Given the description of an element on the screen output the (x, y) to click on. 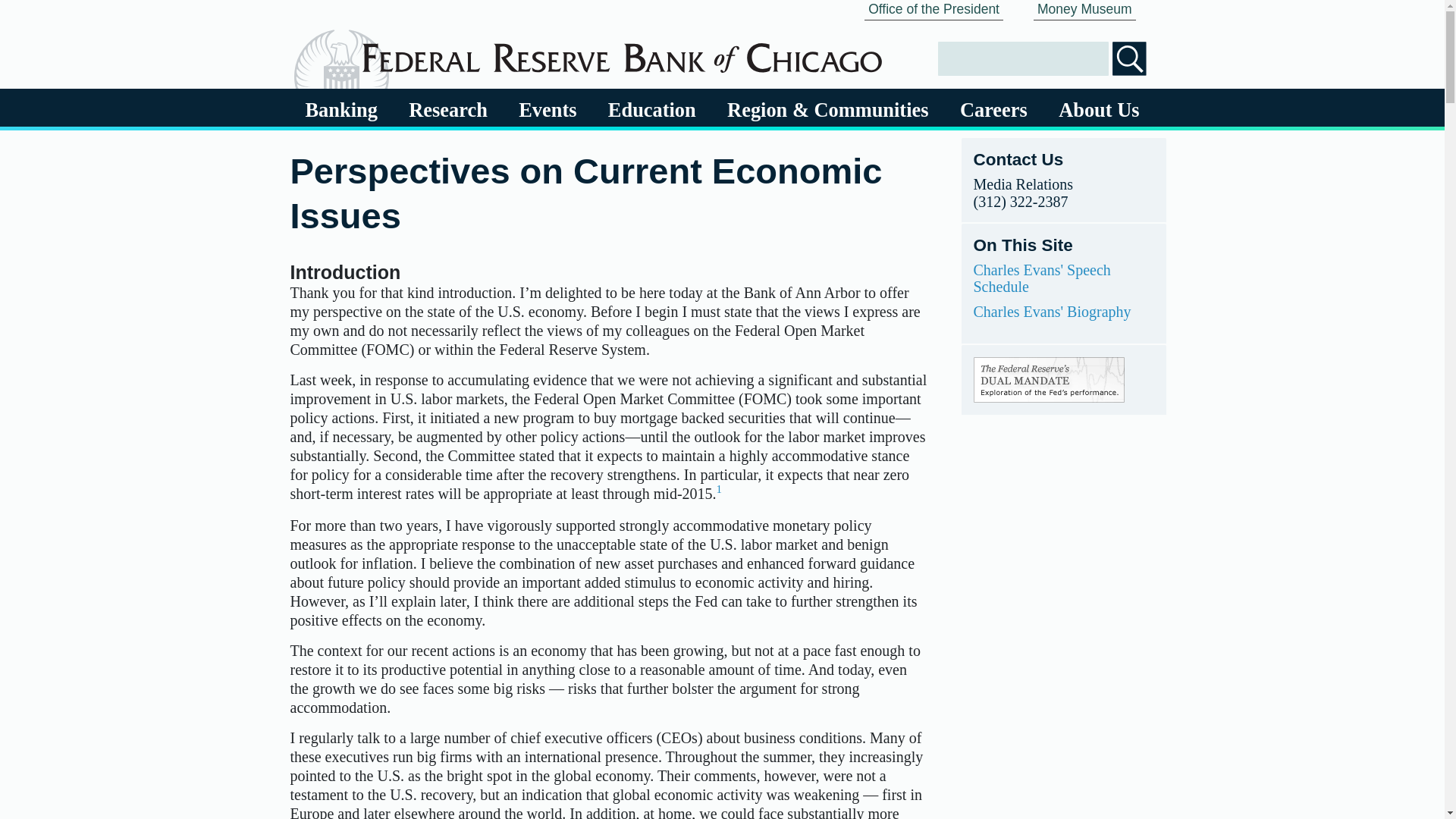
Home (622, 52)
Office of the President (933, 10)
Money Museum (1084, 10)
